Given the description of an element on the screen output the (x, y) to click on. 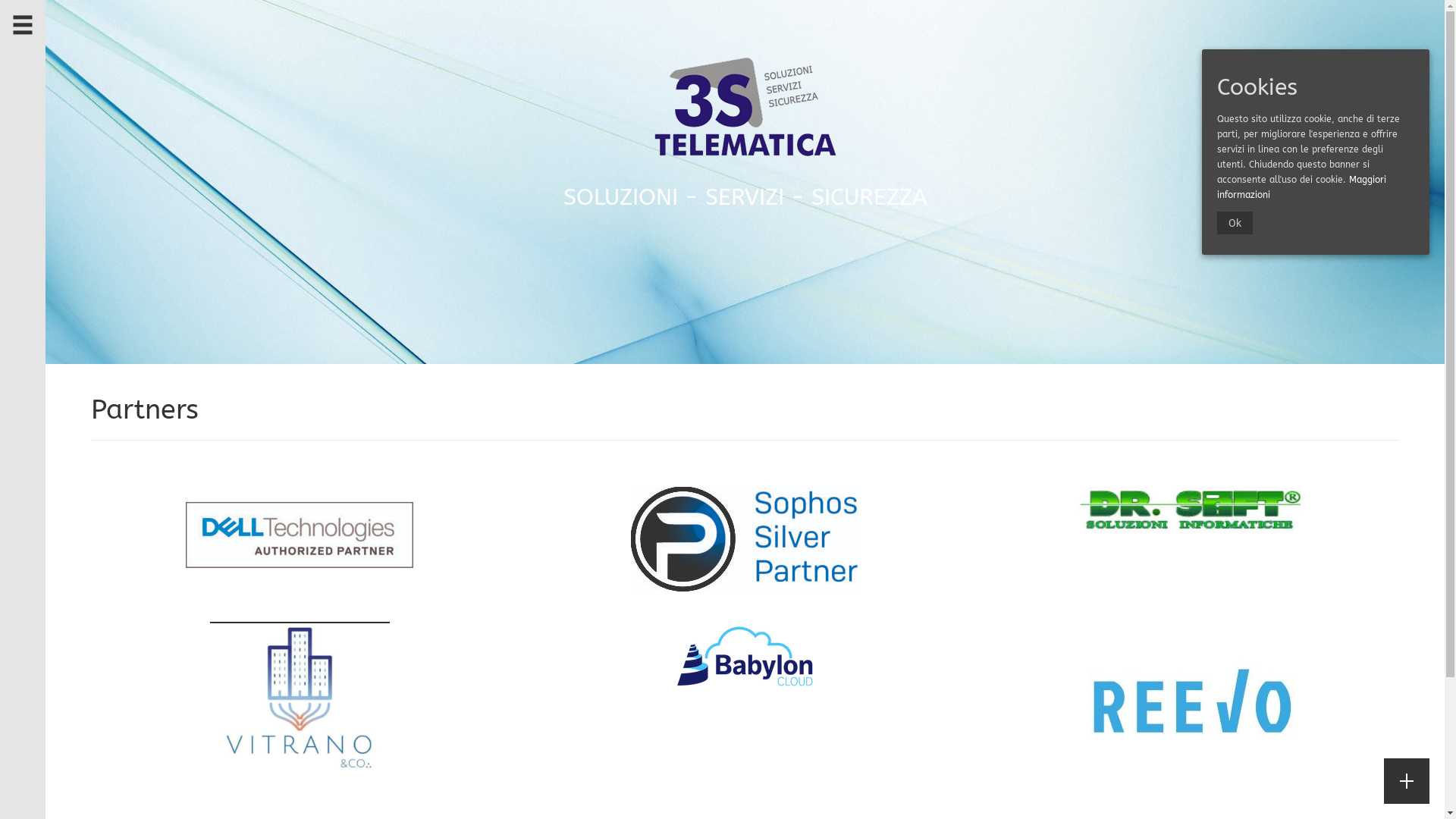
Ok Element type: text (1234, 222)
Maggiori informazioni Element type: text (1301, 187)
